Given the description of an element on the screen output the (x, y) to click on. 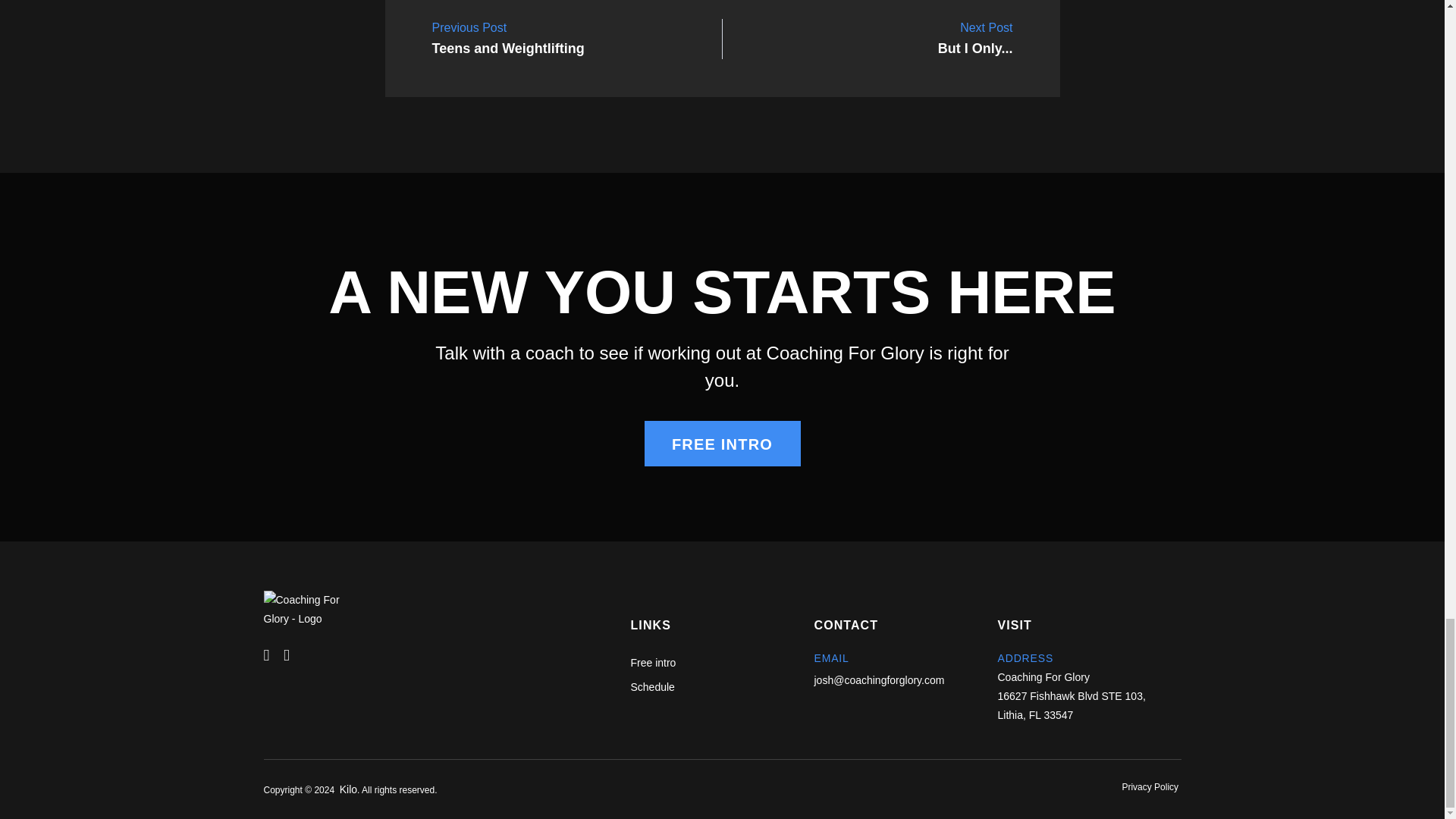
Teens and Weightlifting (508, 38)
FREE INTRO (508, 38)
But I Only... (975, 38)
